Given the description of an element on the screen output the (x, y) to click on. 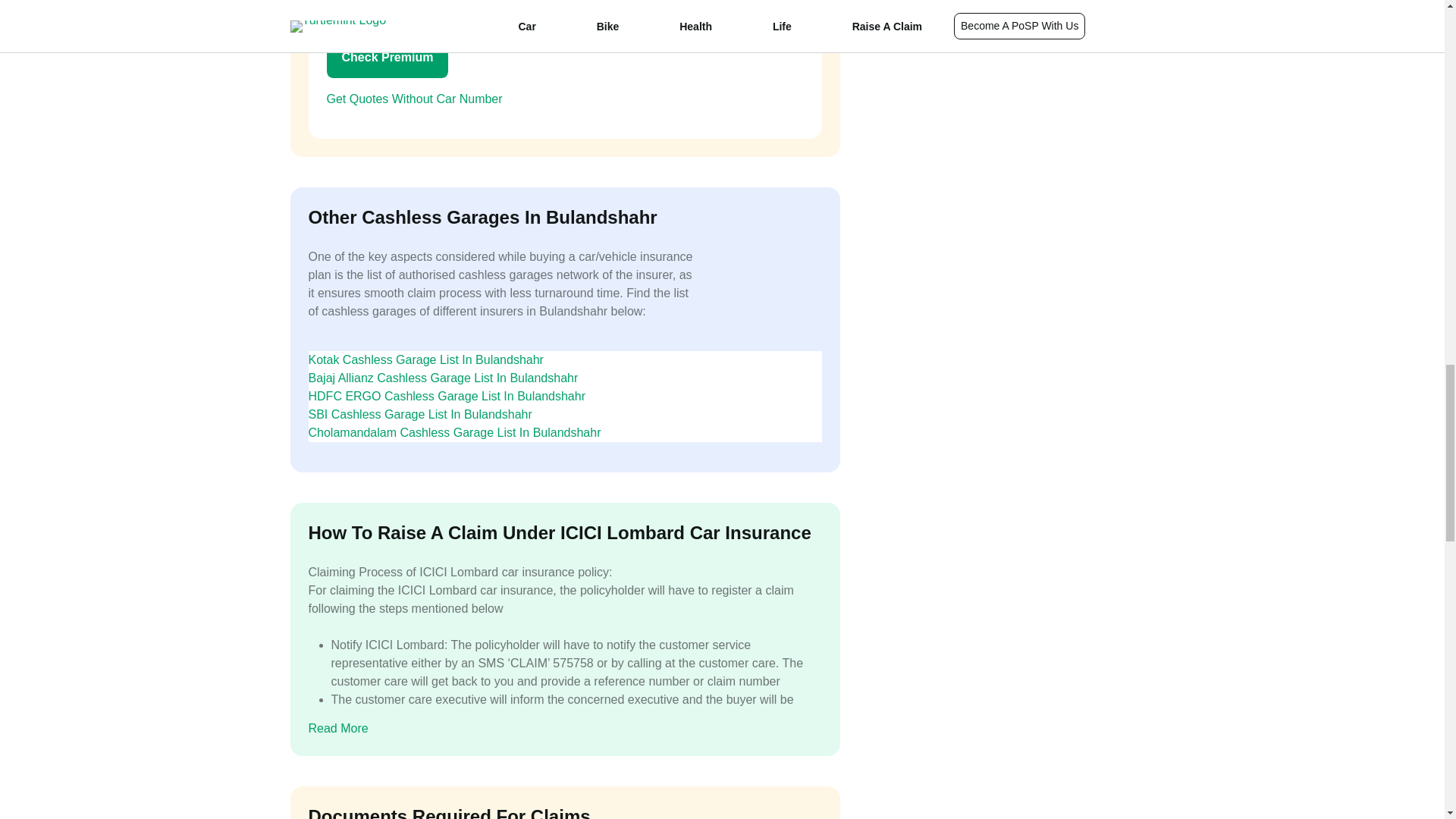
ICICI Lombard Car Insurance Quotes (425, 98)
Kotak Car Insurance Garage List In Bulandshahr (431, 359)
ICICI Lombard Car Insurance Quotes (387, 56)
SBI Car Insurance Garage List In Bulandshahr (425, 413)
Cholamandalam Car Insurance Garage List In Bulandshahr (459, 431)
Bajaj Allianz Car Insurance Garage List In Bulandshahr (448, 377)
Read More About Claim Process Of ICICI Lombard Car Insurance (349, 728)
HDFC ERGO Car Insurance Garage List In Bulandshahr (451, 395)
